Given the description of an element on the screen output the (x, y) to click on. 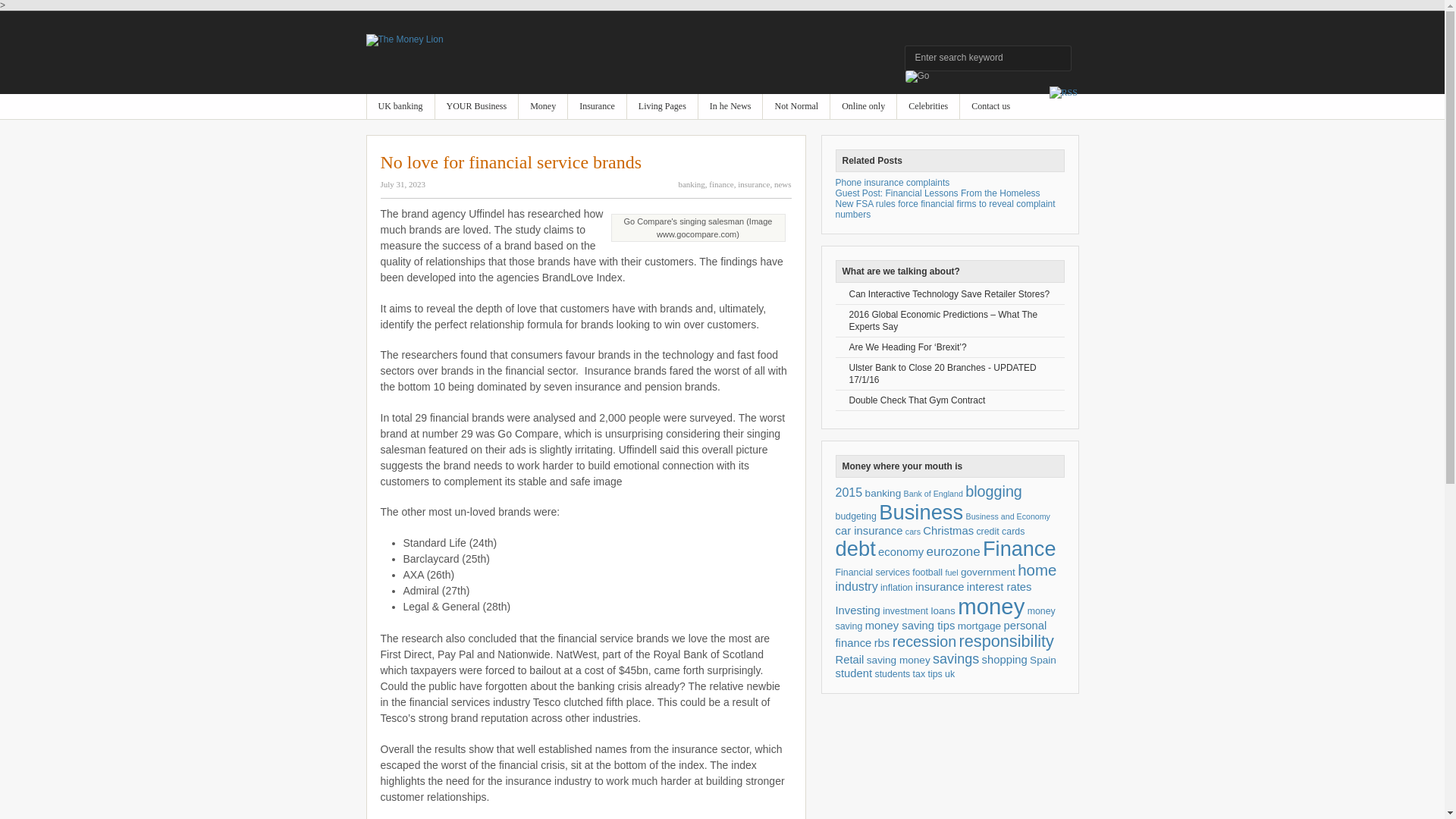
web (862, 106)
insurance (754, 184)
YOUR Business (476, 106)
banking (691, 184)
Guest Post: Financial Lessons From the Homeless (938, 193)
celebrity (927, 106)
Not Normal (795, 106)
business (476, 106)
Money (542, 106)
In he News (730, 106)
finance (542, 106)
Insurance (596, 106)
Contact us (990, 106)
insurance (596, 106)
blogging (993, 491)
